Given the description of an element on the screen output the (x, y) to click on. 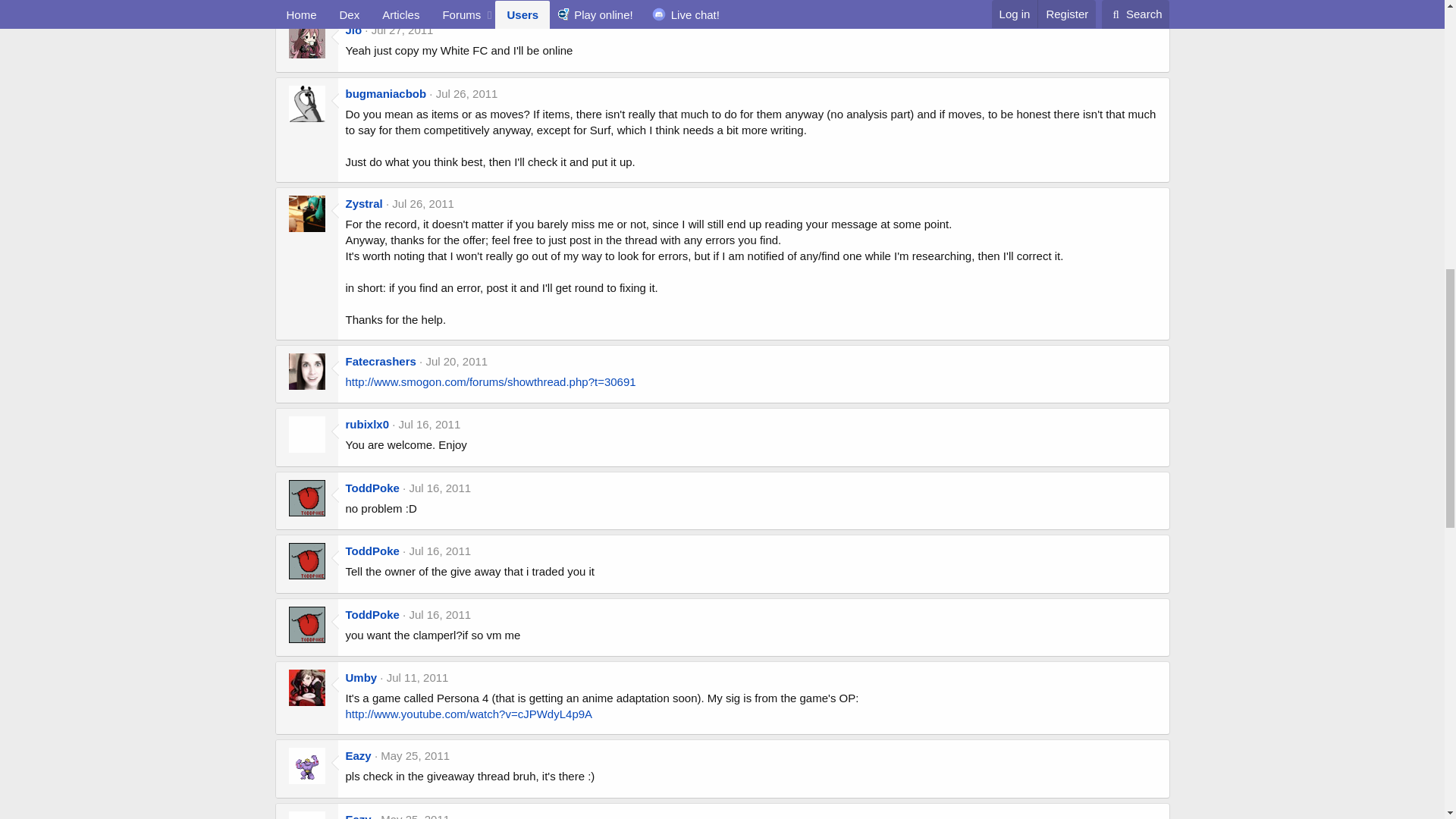
Jul 26, 2011 at 6:36 PM (422, 203)
Jul 26, 2011 at 6:49 PM (466, 92)
Jul 27, 2011 at 3:56 PM (402, 29)
Jul 20, 2011 at 8:33 AM (456, 360)
Jul 16, 2011 at 7:51 PM (429, 423)
Jul 16, 2011 at 7:47 PM (439, 487)
